Given the description of an element on the screen output the (x, y) to click on. 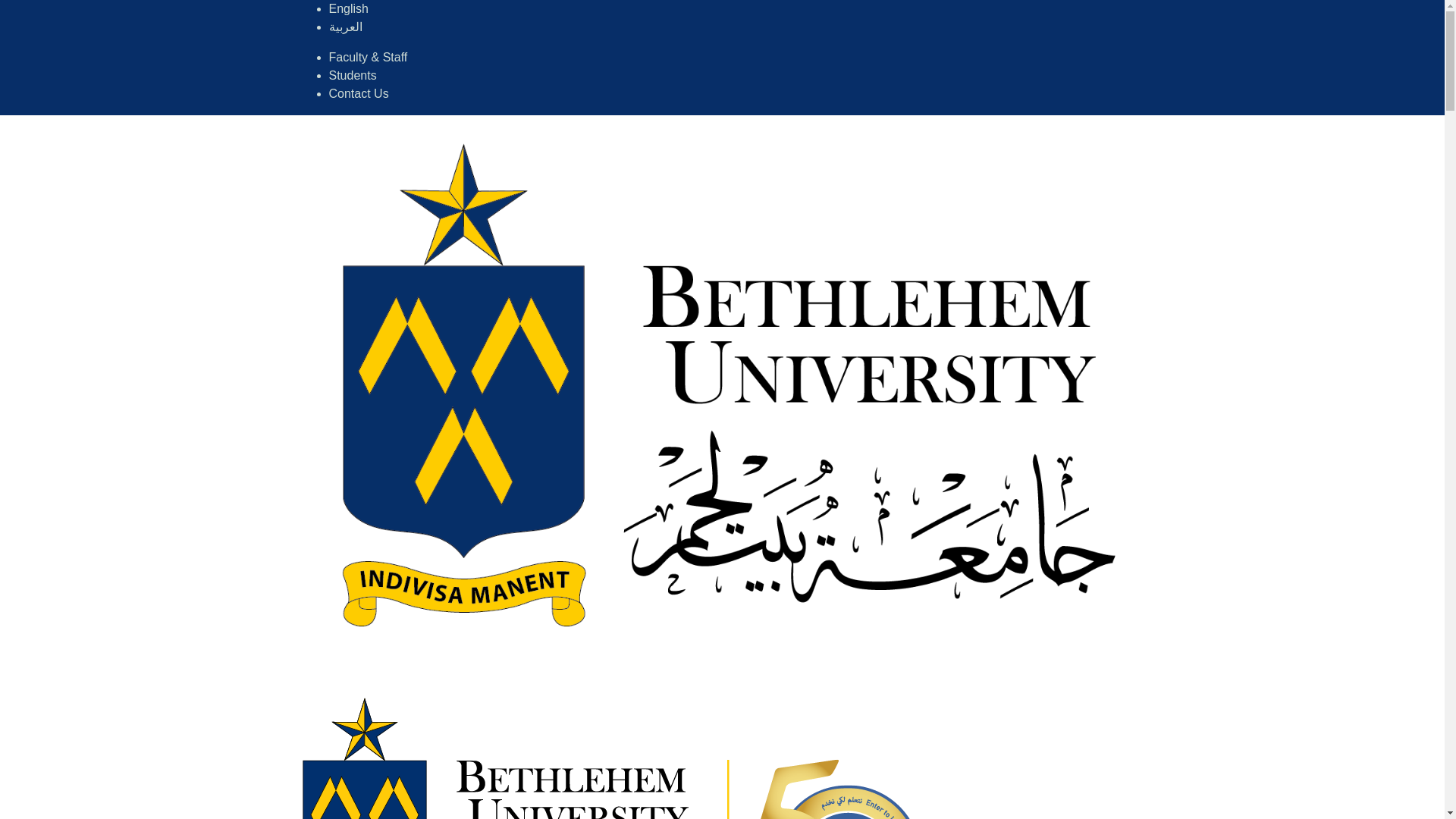
English (348, 8)
Students (353, 74)
Contact Us (358, 92)
